Given the description of an element on the screen output the (x, y) to click on. 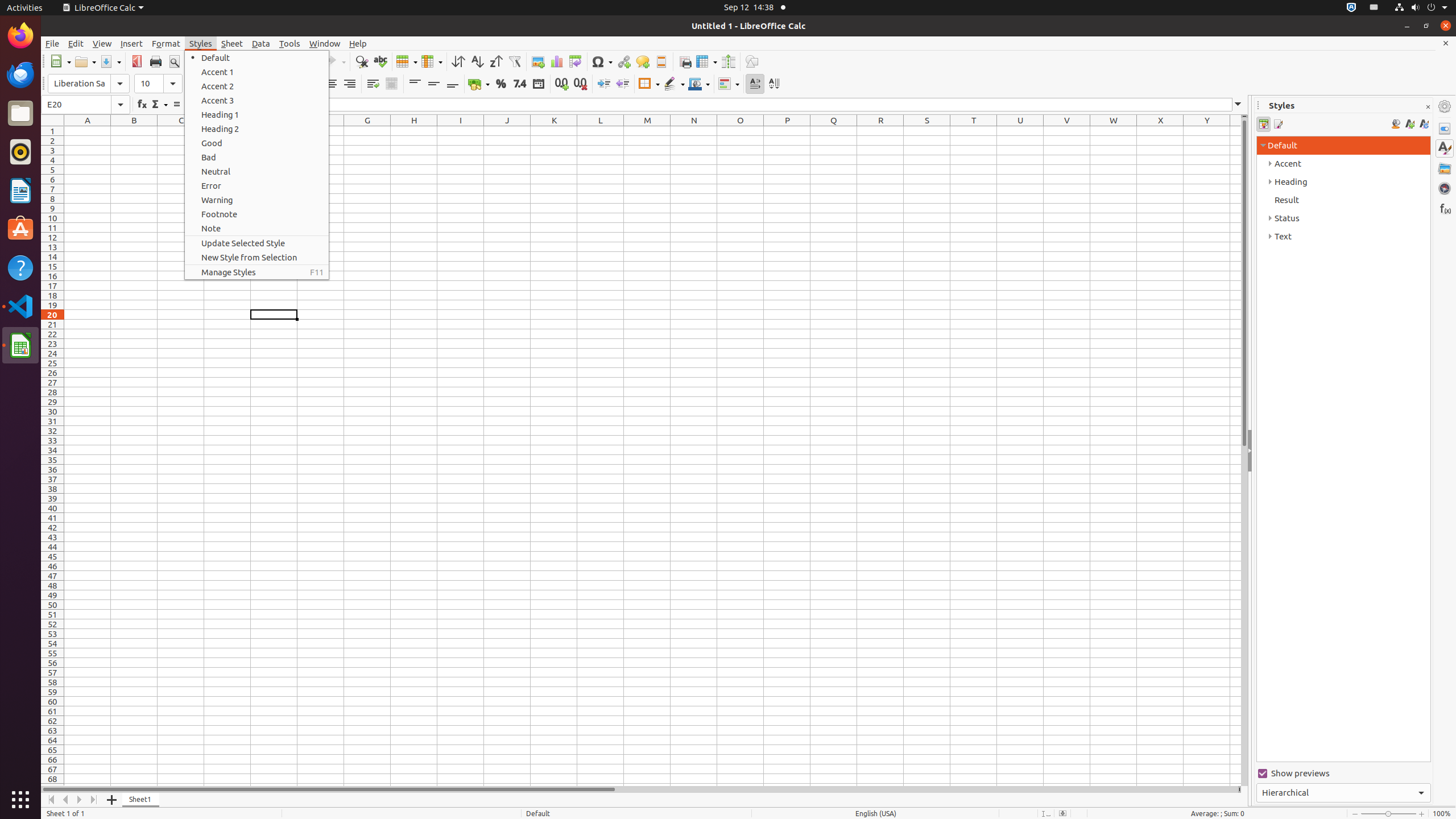
Expand Formula Bar Element type: push-button (1237, 104)
N1 Element type: table-cell (693, 130)
Bad Element type: radio-menu-item (256, 157)
Format Element type: menu (165, 43)
Select Function Element type: push-button (159, 104)
